Given the description of an element on the screen output the (x, y) to click on. 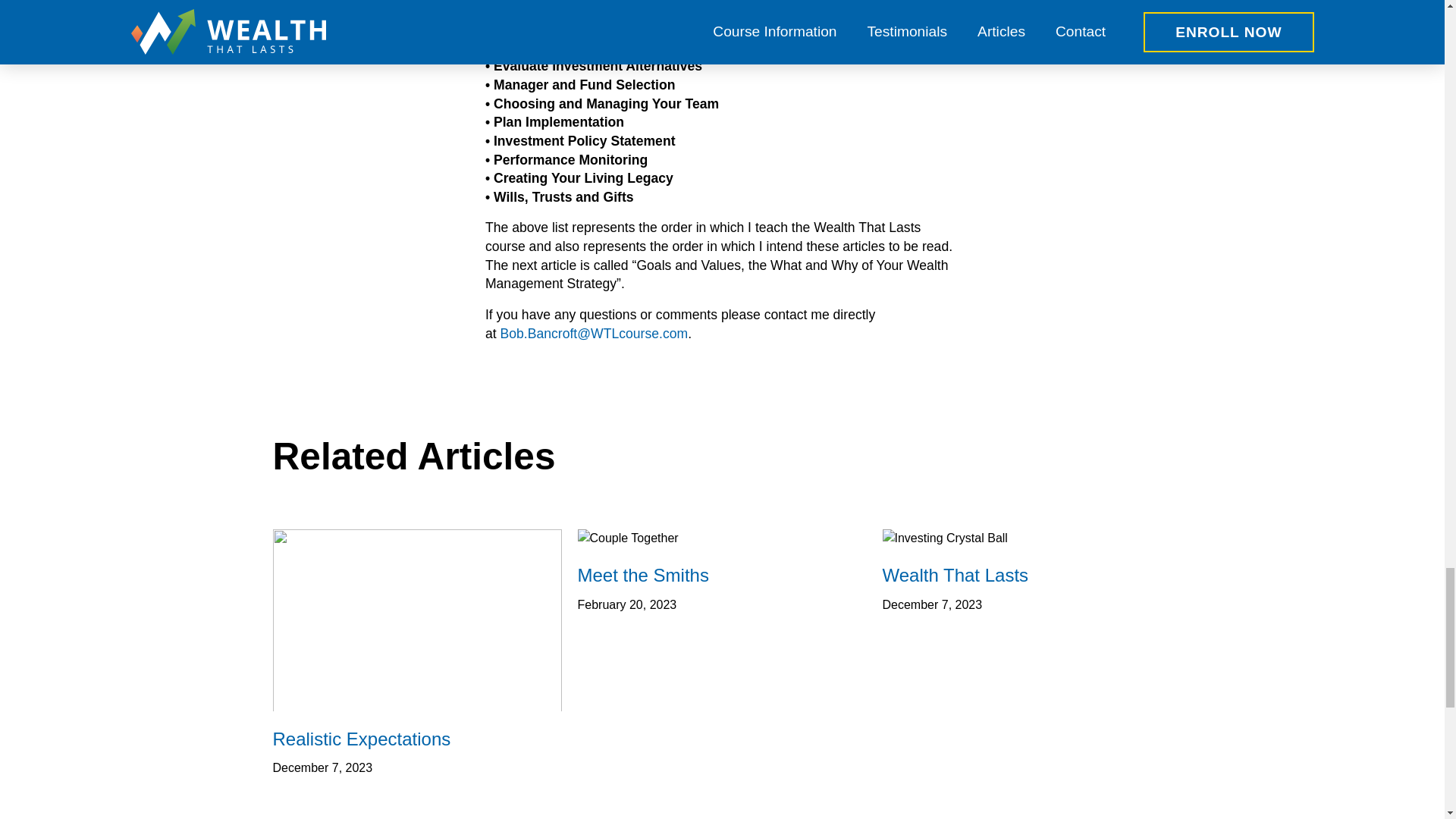
Wealth That Lasts (1027, 575)
Meet the Smiths (722, 575)
Realistic Expectations (417, 739)
